Given the description of an element on the screen output the (x, y) to click on. 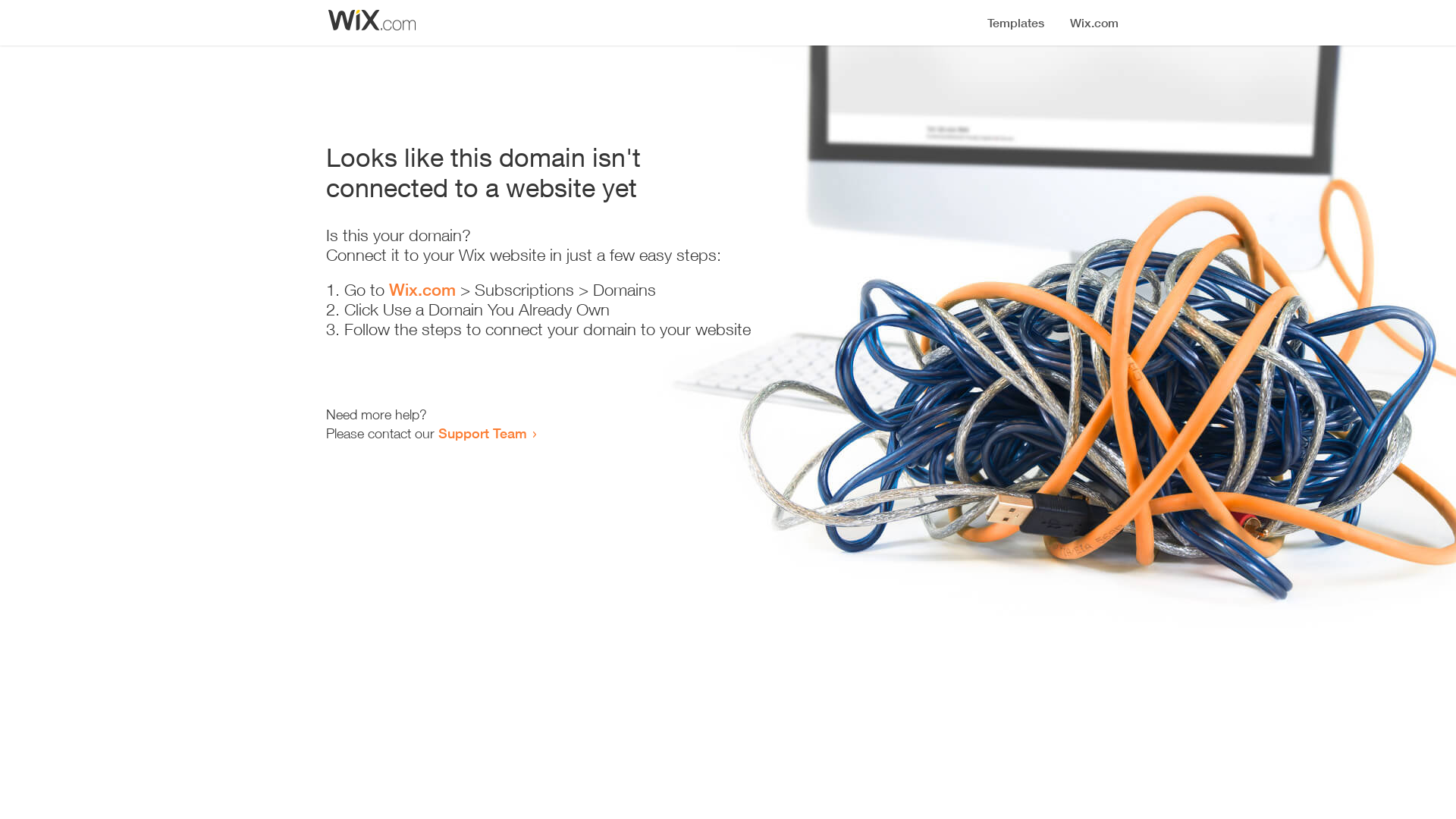
Wix.com Element type: text (422, 289)
Support Team Element type: text (482, 432)
